Given the description of an element on the screen output the (x, y) to click on. 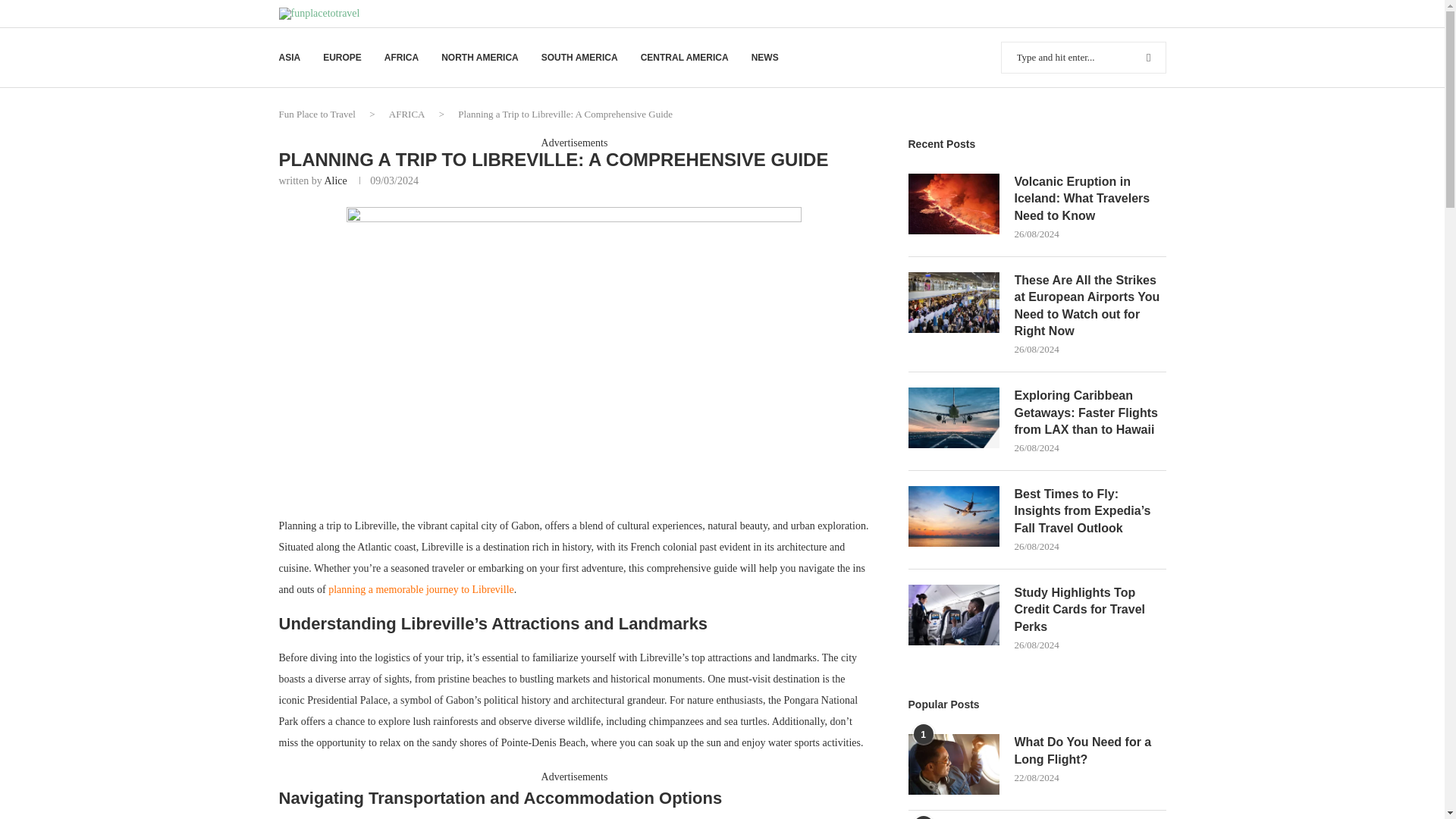
CENTRAL AMERICA (684, 57)
Alice (334, 180)
Volcanic Eruption in Iceland: What Travelers Need to Know (953, 203)
SOUTH AMERICA (579, 57)
14080155 (574, 351)
Fun Place to Travel (317, 113)
AFRICA (406, 113)
